Given the description of an element on the screen output the (x, y) to click on. 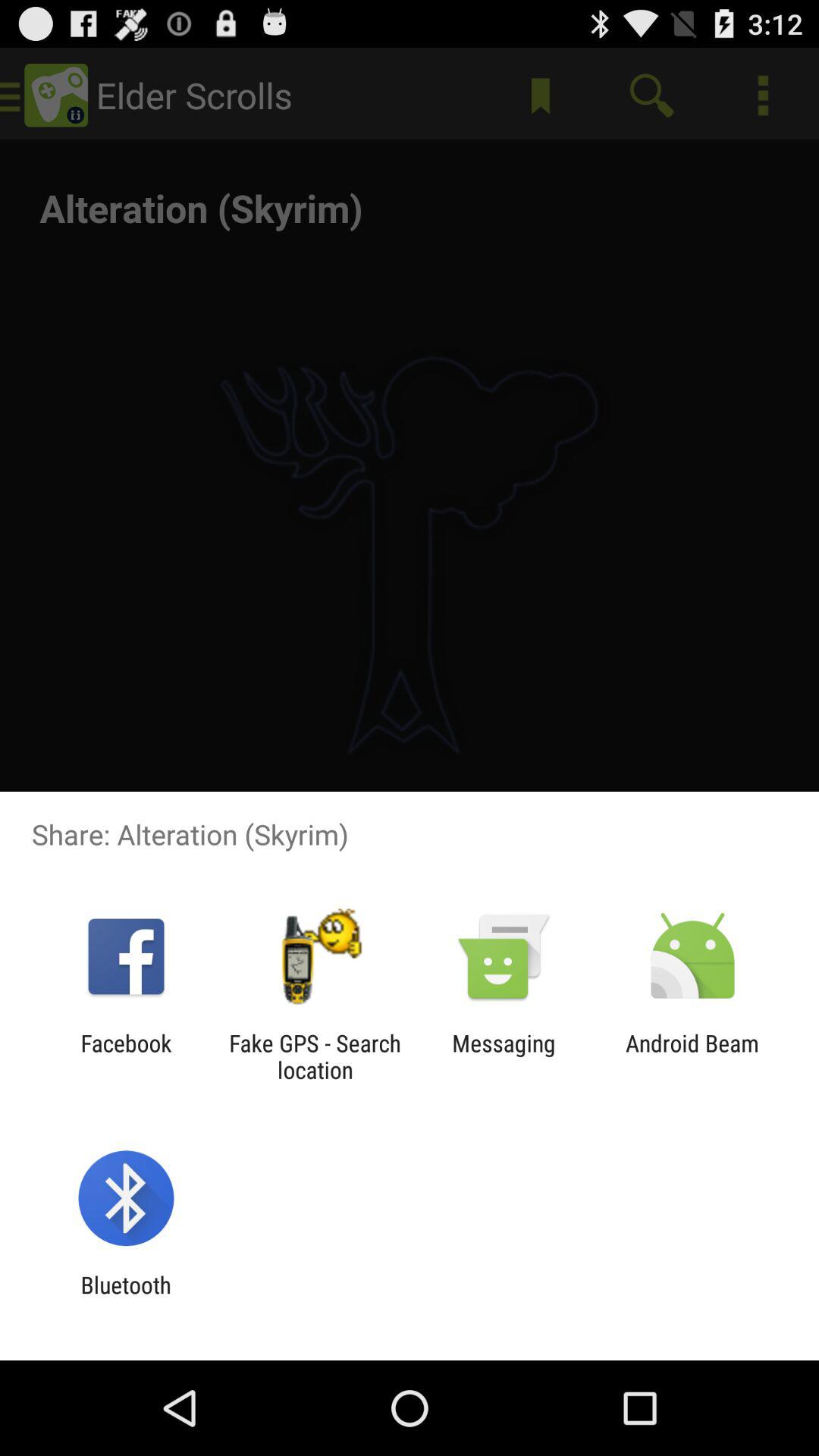
click android beam at the bottom right corner (692, 1056)
